Given the description of an element on the screen output the (x, y) to click on. 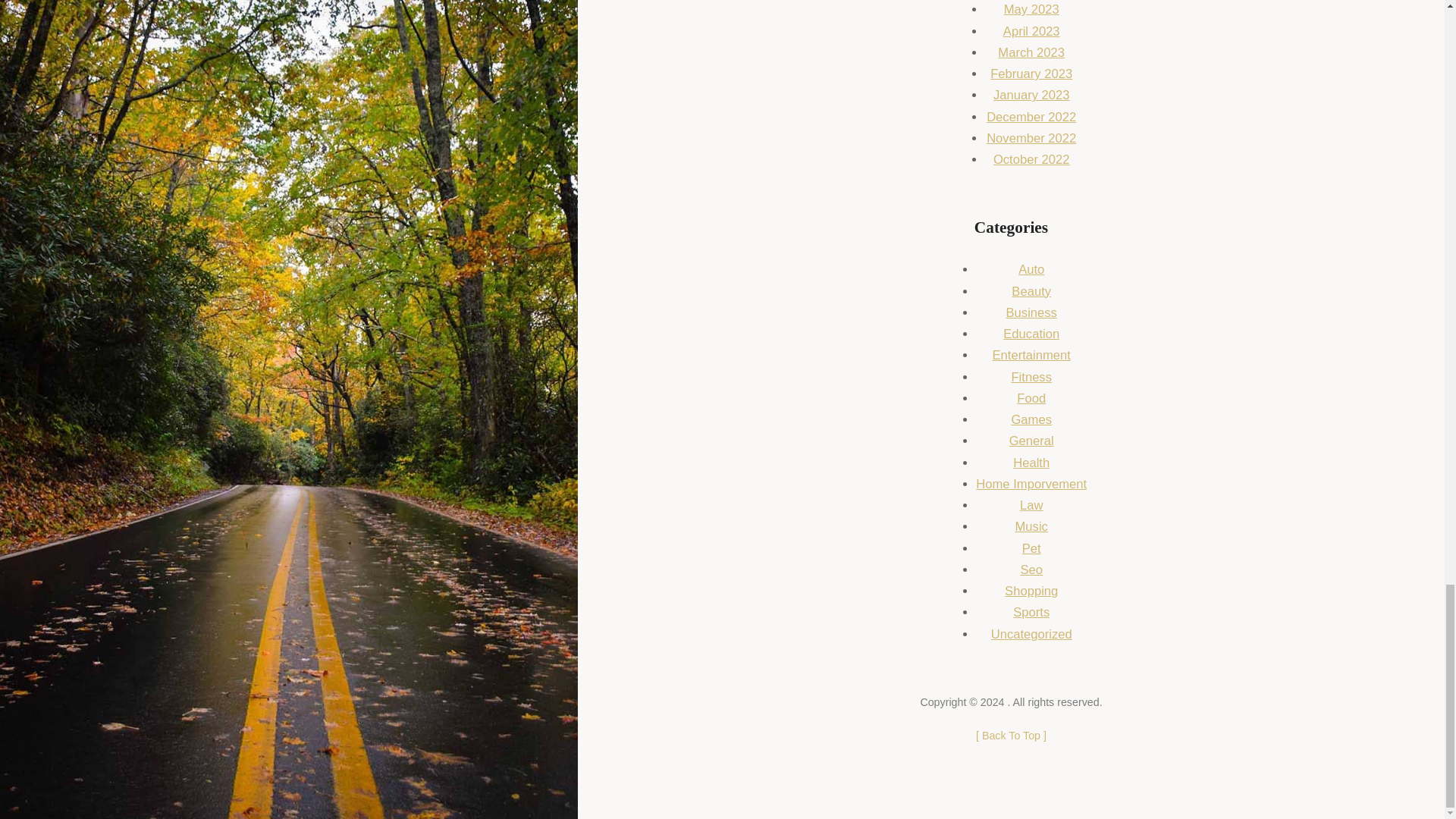
Fitness (1030, 377)
Back To Top (1010, 735)
December 2022 (1031, 116)
May 2023 (1031, 9)
Education (1031, 333)
November 2022 (1031, 138)
Business (1031, 312)
Food (1030, 398)
February 2023 (1030, 73)
General (1031, 440)
Entertainment (1031, 355)
Auto (1030, 269)
Games (1030, 419)
January 2023 (1031, 94)
April 2023 (1031, 31)
